Given the description of an element on the screen output the (x, y) to click on. 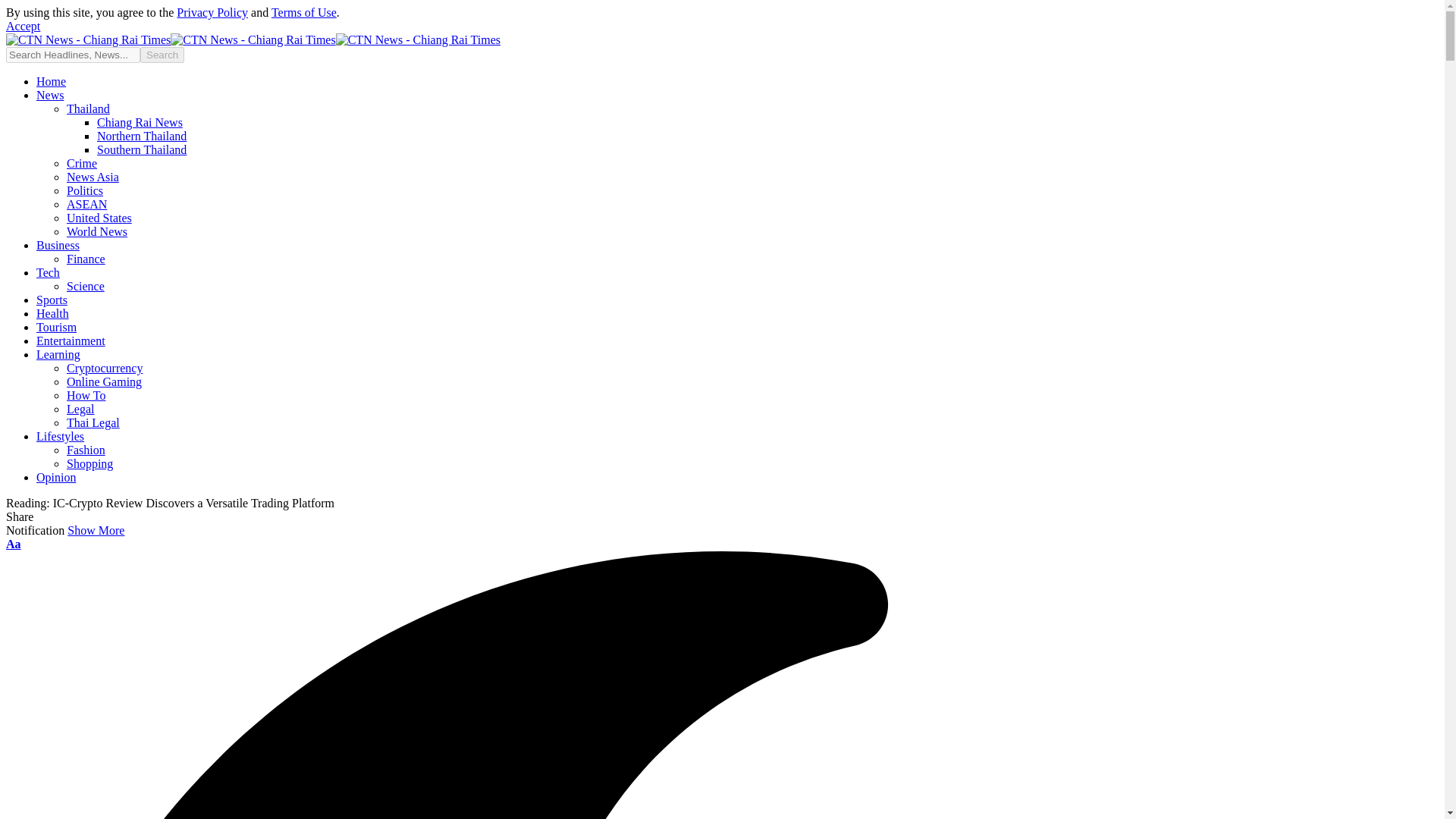
Sports (51, 299)
Southern Thailand (141, 149)
Entertainment (70, 340)
Terms of Use (303, 11)
Search (161, 54)
Northern Thailand (141, 135)
Learning (58, 354)
United States (99, 217)
Chiang Rai News (140, 122)
Fashion (85, 449)
How To (85, 395)
Privacy Policy (211, 11)
Health (52, 313)
World News (97, 231)
Shopping (89, 463)
